Given the description of an element on the screen output the (x, y) to click on. 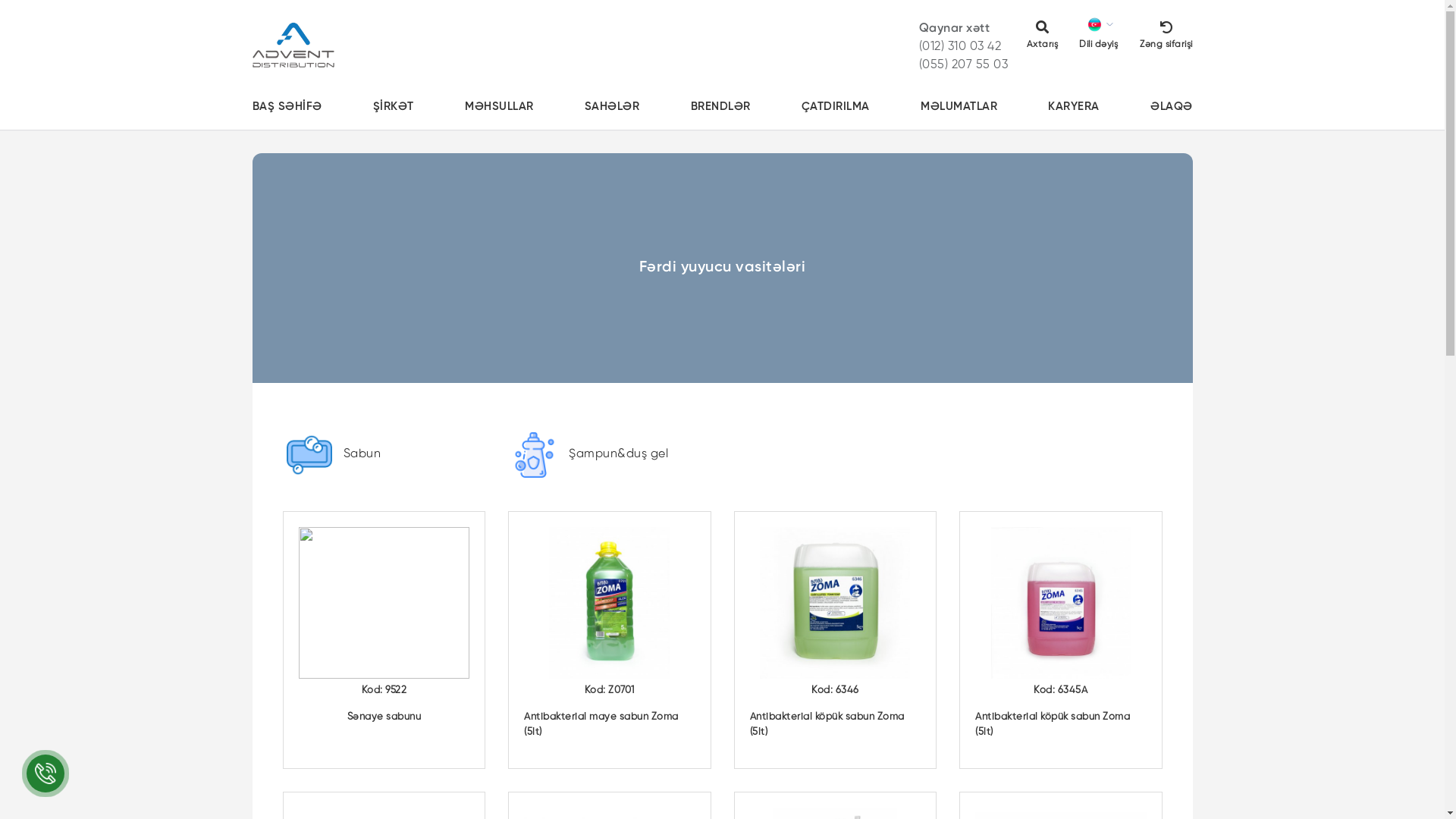
(055) 207 55 03 Element type: text (963, 65)
(012) 310 03 42 Element type: text (960, 46)
Kod: Z0701
Antibakterial maye sabun Zoma (5lt) Element type: text (609, 639)
Sabun Element type: text (383, 462)
KARYERA Element type: text (1073, 106)
